Given the description of an element on the screen output the (x, y) to click on. 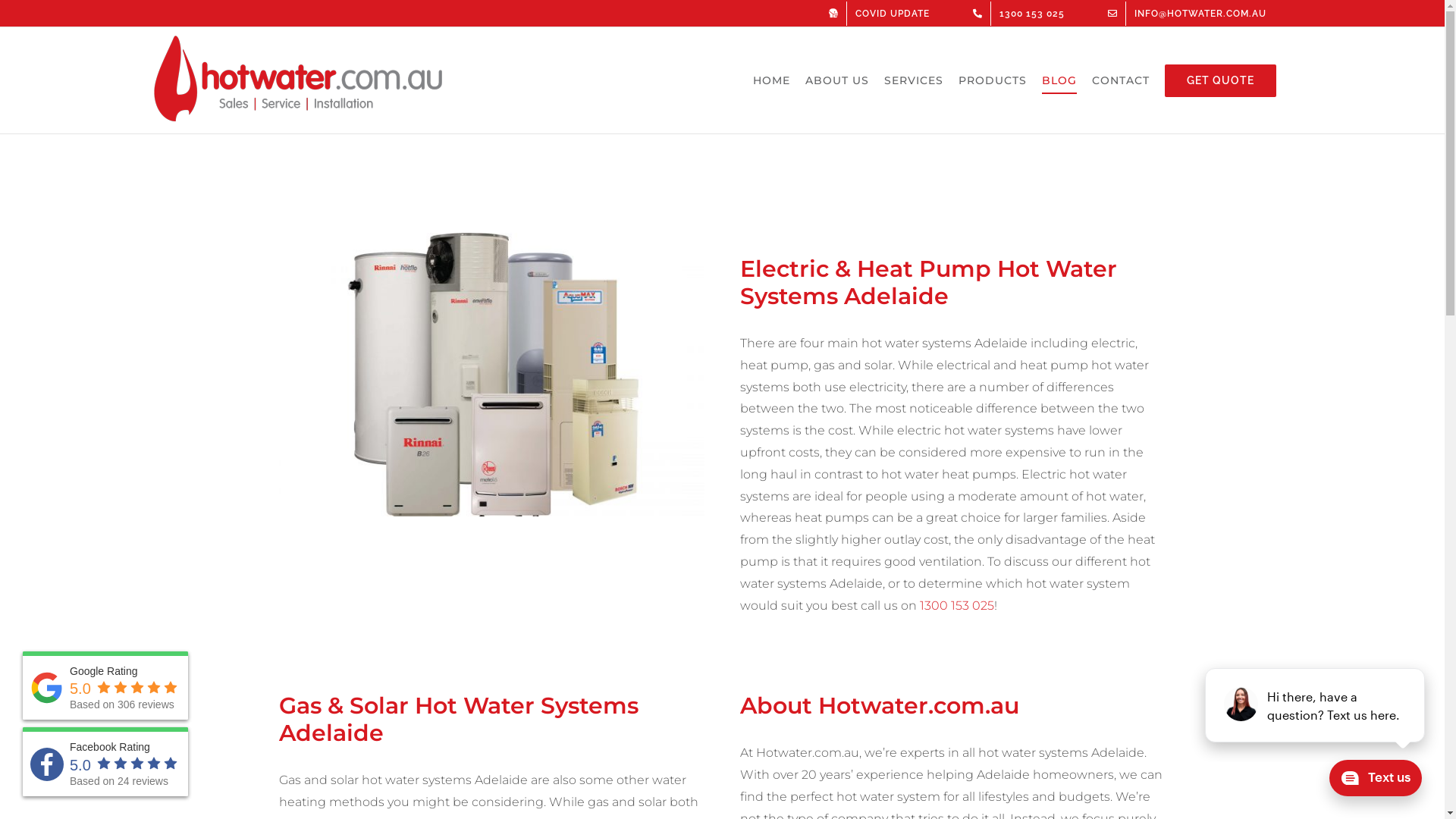
COVID UPDATE Element type: text (882, 13)
INFO@HOTWATER.COM.AU Element type: text (1190, 13)
Hot Water Systems Adelaide Element type: hover (492, 374)
HOME Element type: text (770, 80)
GET QUOTE Element type: text (1220, 80)
SERVICES Element type: text (913, 80)
BLOG Element type: text (1058, 80)
1300 153 025 Element type: text (1022, 13)
1300 153 025 Element type: text (956, 605)
PRODUCTS Element type: text (992, 80)
podium webchat widget prompt Element type: hover (1315, 705)
ABOUT US Element type: text (837, 80)
CONTACT Element type: text (1120, 80)
